Given the description of an element on the screen output the (x, y) to click on. 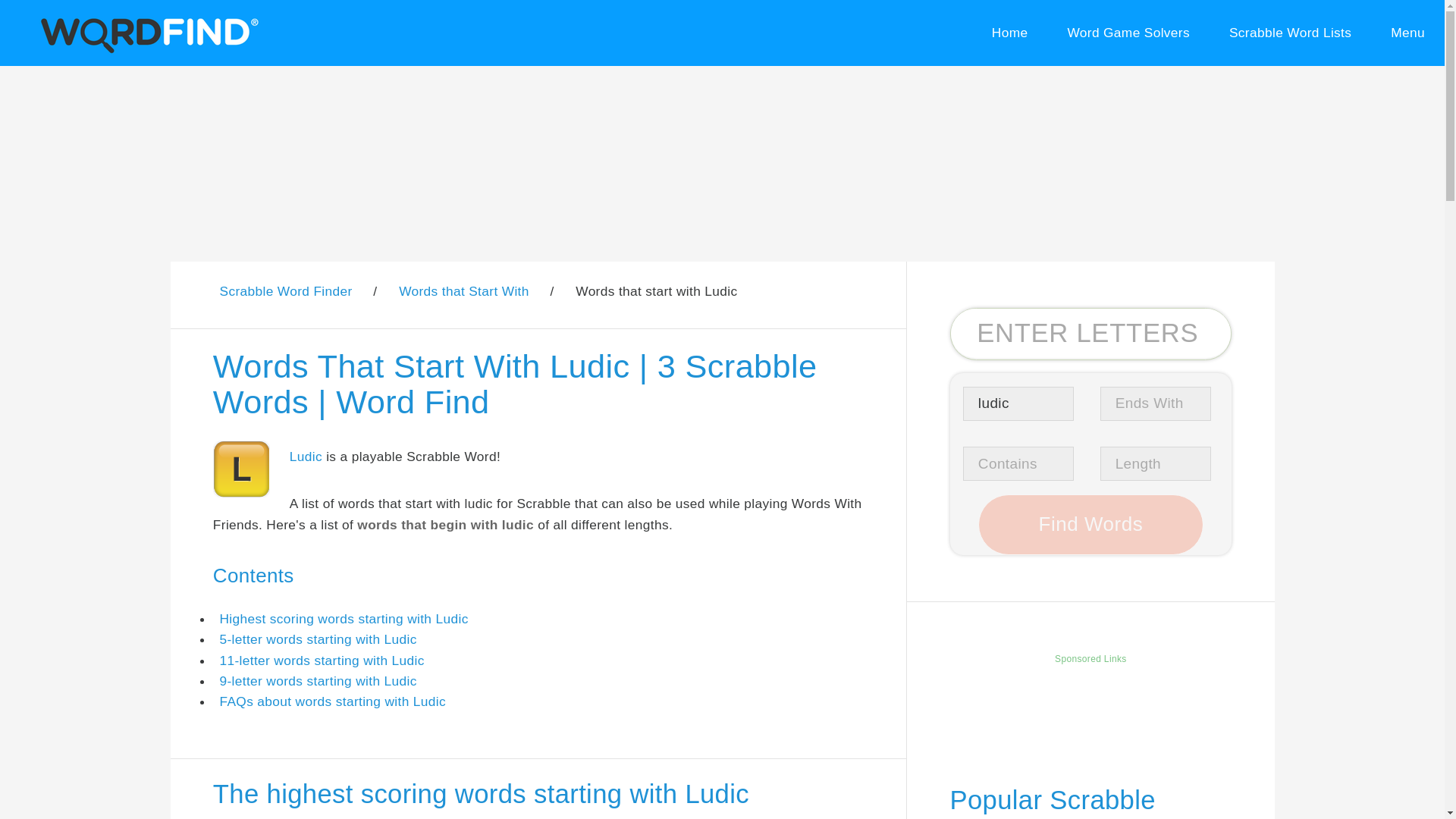
Word Game Solvers (1128, 33)
Scrabble Word Lists menu (1290, 33)
9-letter words starting with Ludic (317, 680)
Find Words (1091, 525)
11-letter words starting with Ludic (321, 660)
Home (1009, 33)
Ludic (305, 456)
FAQs about words starting with Ludic (332, 701)
Return Home to Wordfind.com (146, 50)
ludic (1018, 403)
Menu (1407, 33)
Words that Start With (463, 290)
wordfind.com logo (146, 32)
5-letter words starting with Ludic (317, 639)
Return Home (1009, 33)
